Given the description of an element on the screen output the (x, y) to click on. 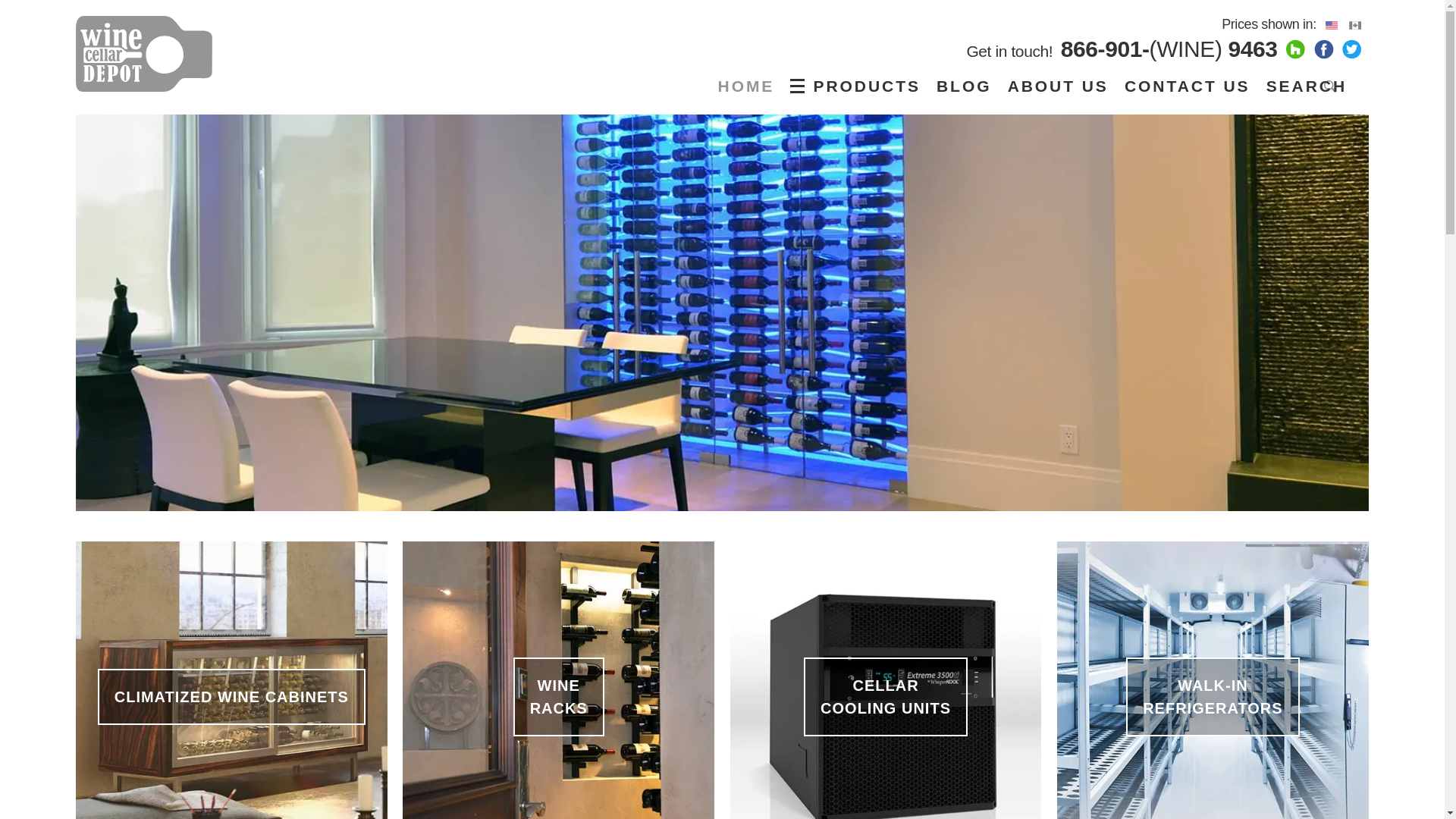
BLOG (963, 85)
SEARCH (1311, 85)
PRODUCTS (858, 85)
HOME (745, 85)
ABOUT US (1058, 85)
CONTACT US (1187, 85)
